Given the description of an element on the screen output the (x, y) to click on. 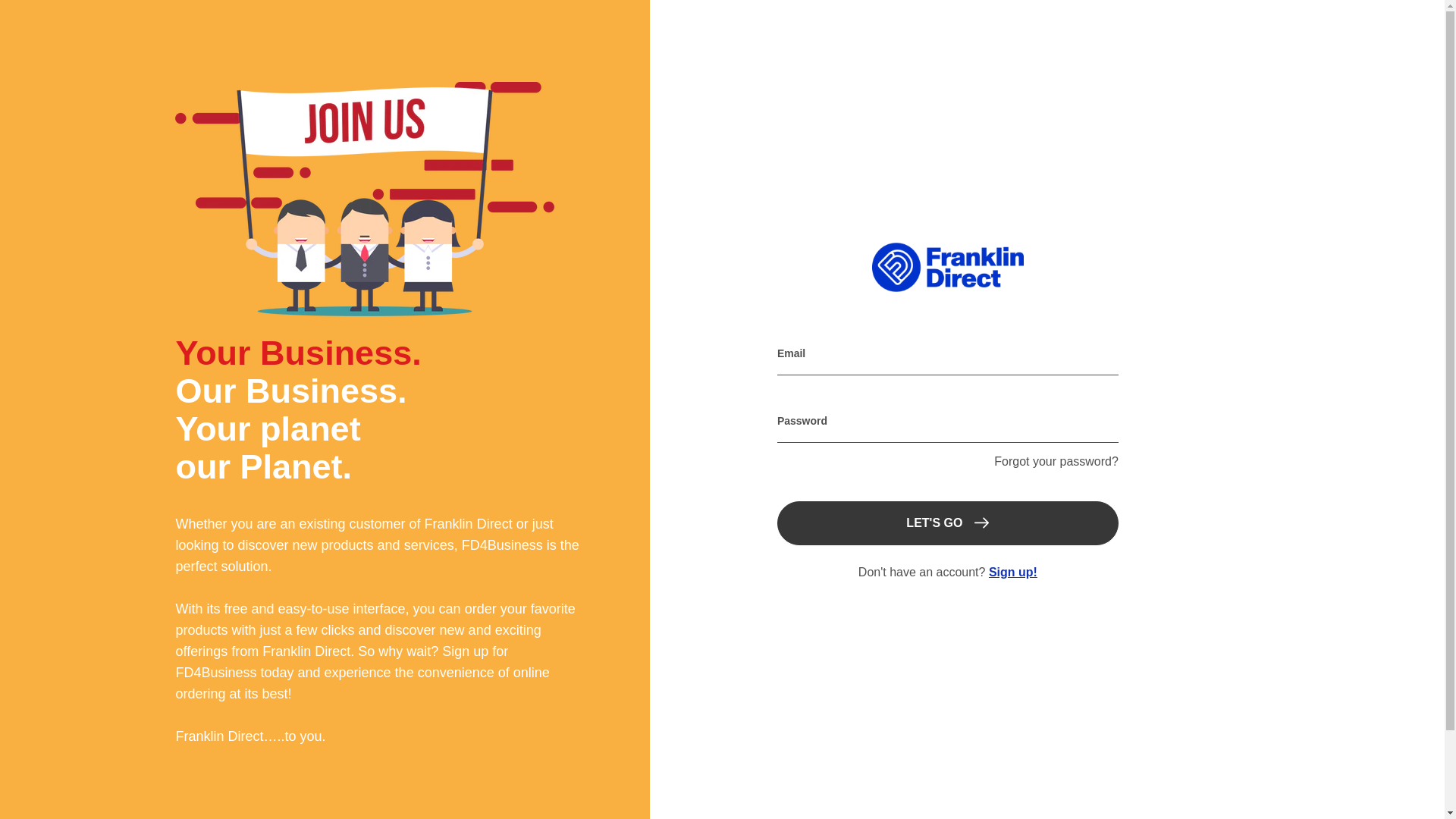
LET'S GO (947, 523)
Sign up! (1012, 571)
Forgot your password? (1056, 461)
